Given the description of an element on the screen output the (x, y) to click on. 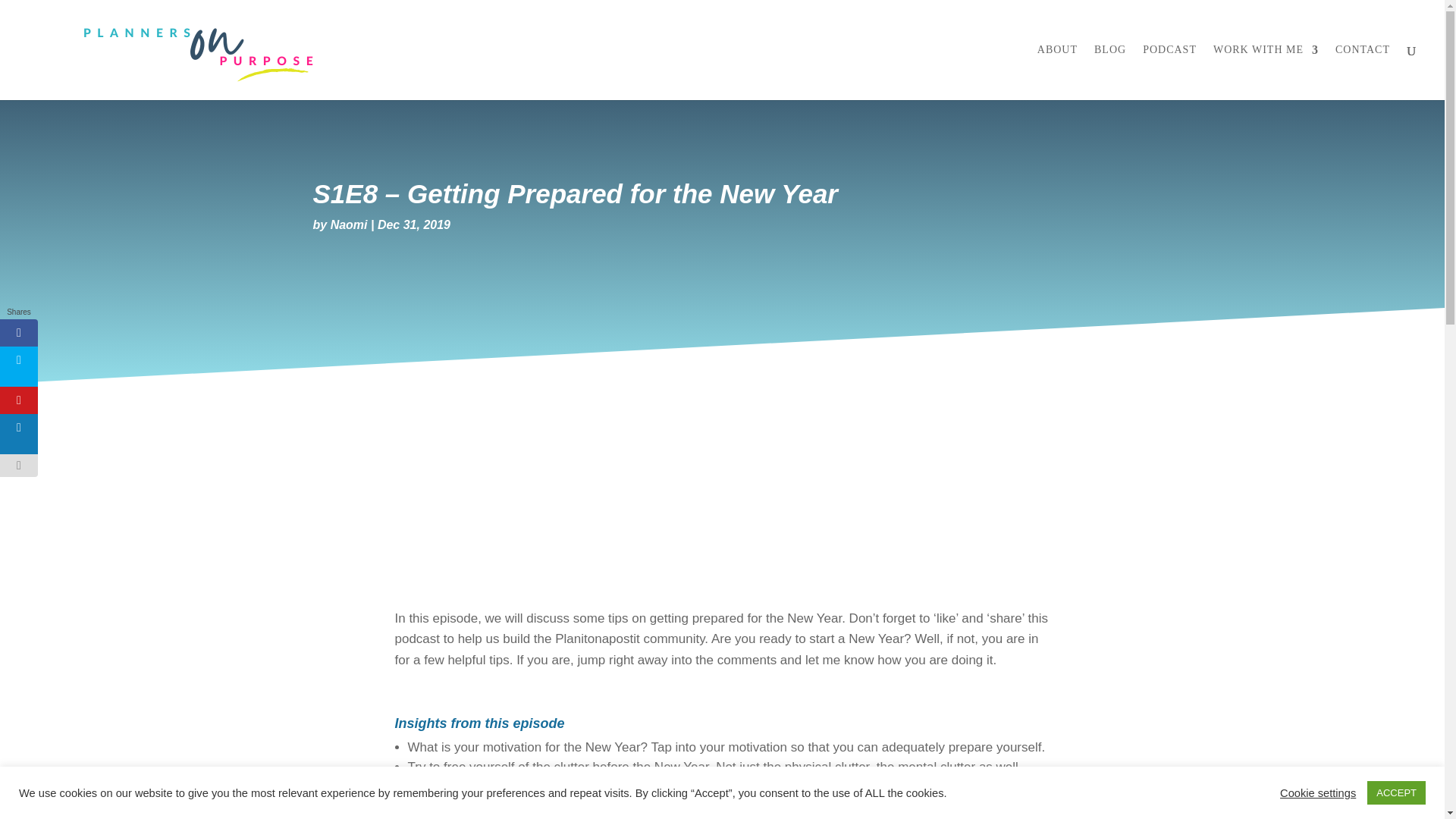
ACCEPT (1396, 792)
Posts by Naomi (349, 224)
PODCAST (1169, 72)
Cookie settings (1317, 792)
WORK WITH ME (1265, 72)
CONTACT (1362, 72)
Naomi (349, 224)
